Given the description of an element on the screen output the (x, y) to click on. 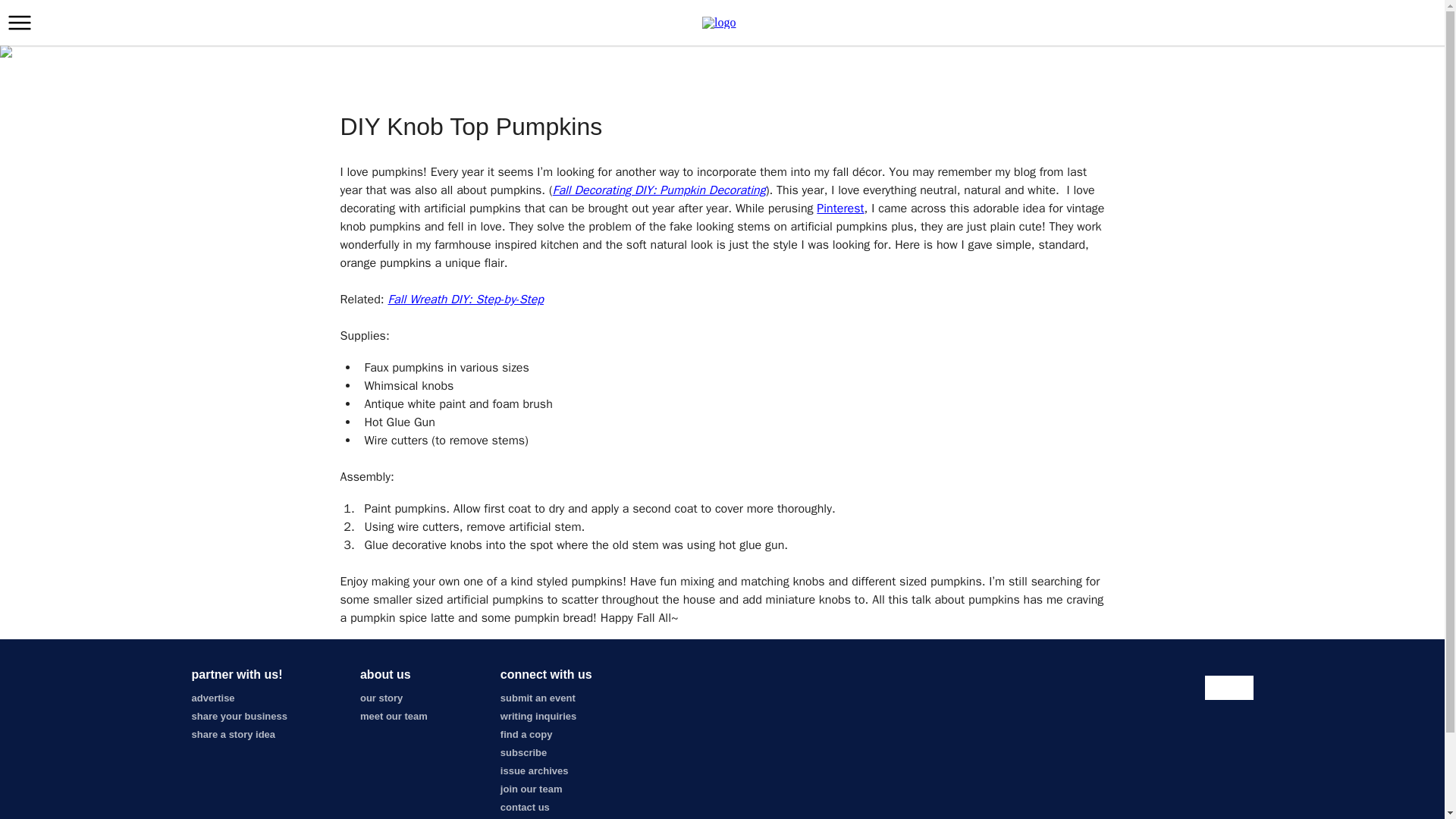
share a story idea (232, 734)
Pinterest (839, 208)
meet our team (393, 715)
find a copy (526, 734)
join our team (531, 788)
issue archives (534, 770)
advertise (212, 697)
Fall Wreath DIY: Step-by-Step (465, 299)
our story (381, 697)
contact us (525, 807)
